Given the description of an element on the screen output the (x, y) to click on. 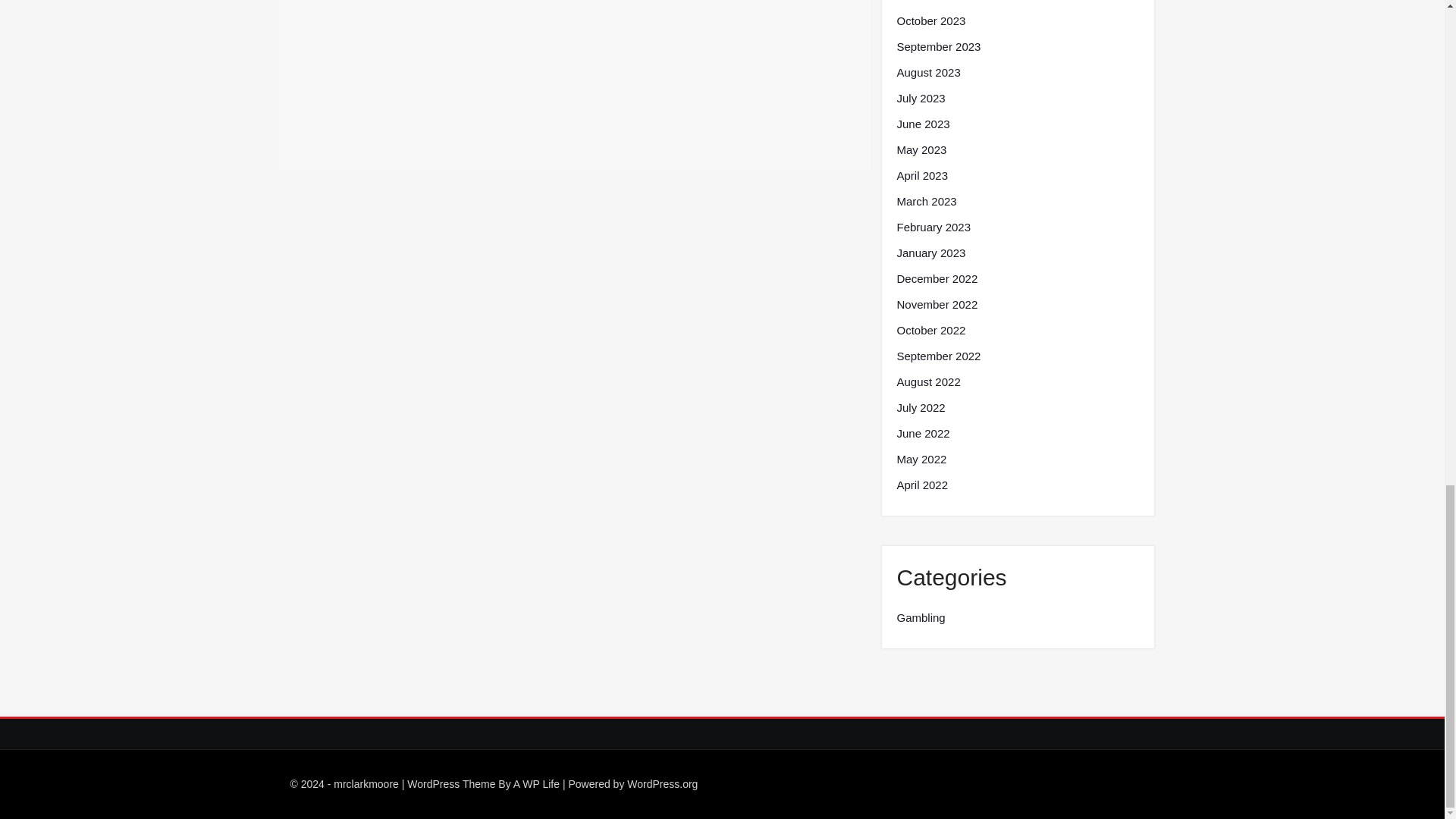
June 2023 (922, 124)
September 2022 (937, 356)
March 2023 (926, 201)
July 2023 (920, 98)
November 2022 (936, 304)
January 2023 (930, 253)
December 2022 (936, 279)
October 2023 (930, 21)
August 2022 (927, 382)
October 2022 (930, 330)
